Given the description of an element on the screen output the (x, y) to click on. 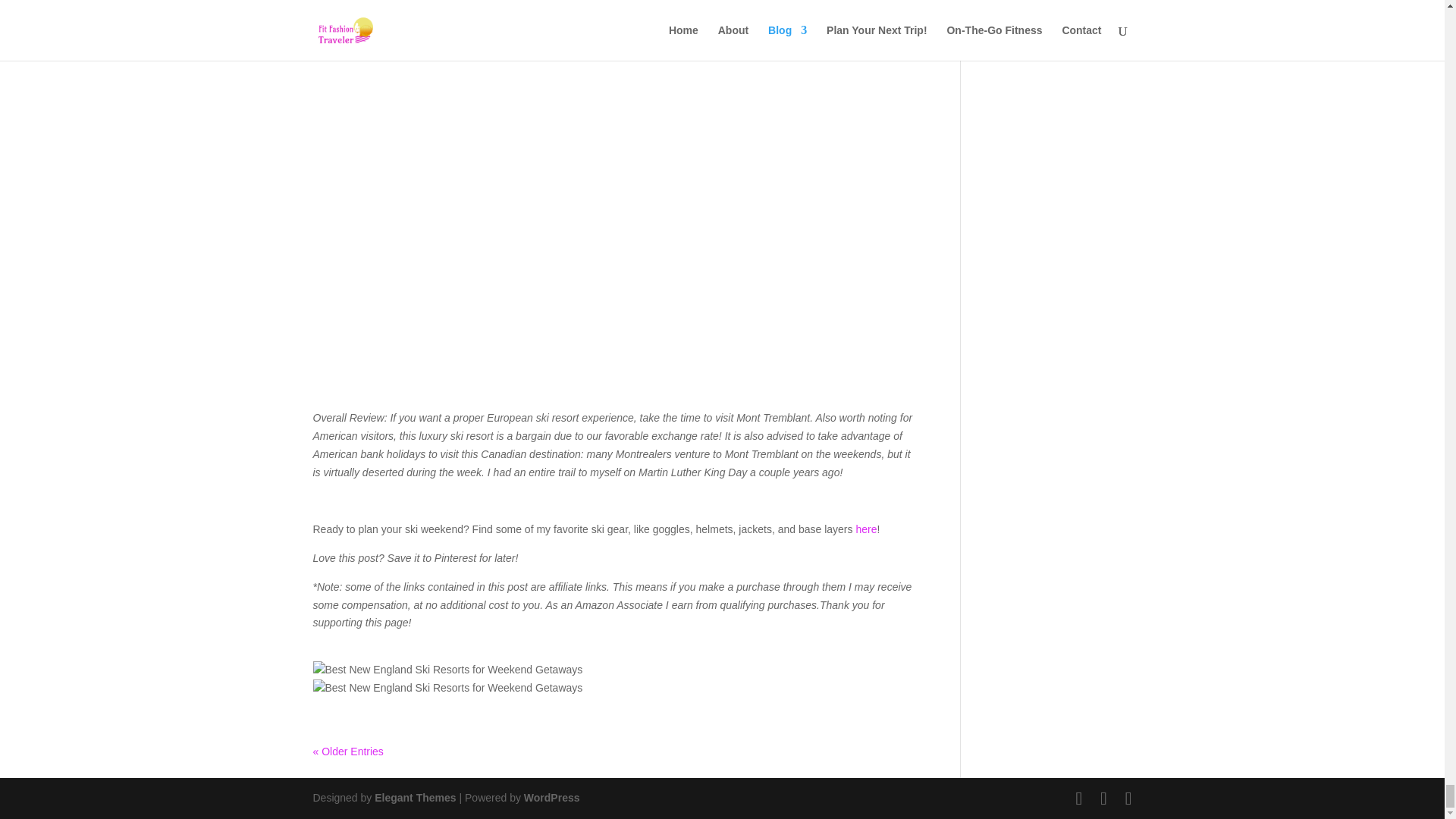
New England Ski Resorts (447, 669)
